Given the description of an element on the screen output the (x, y) to click on. 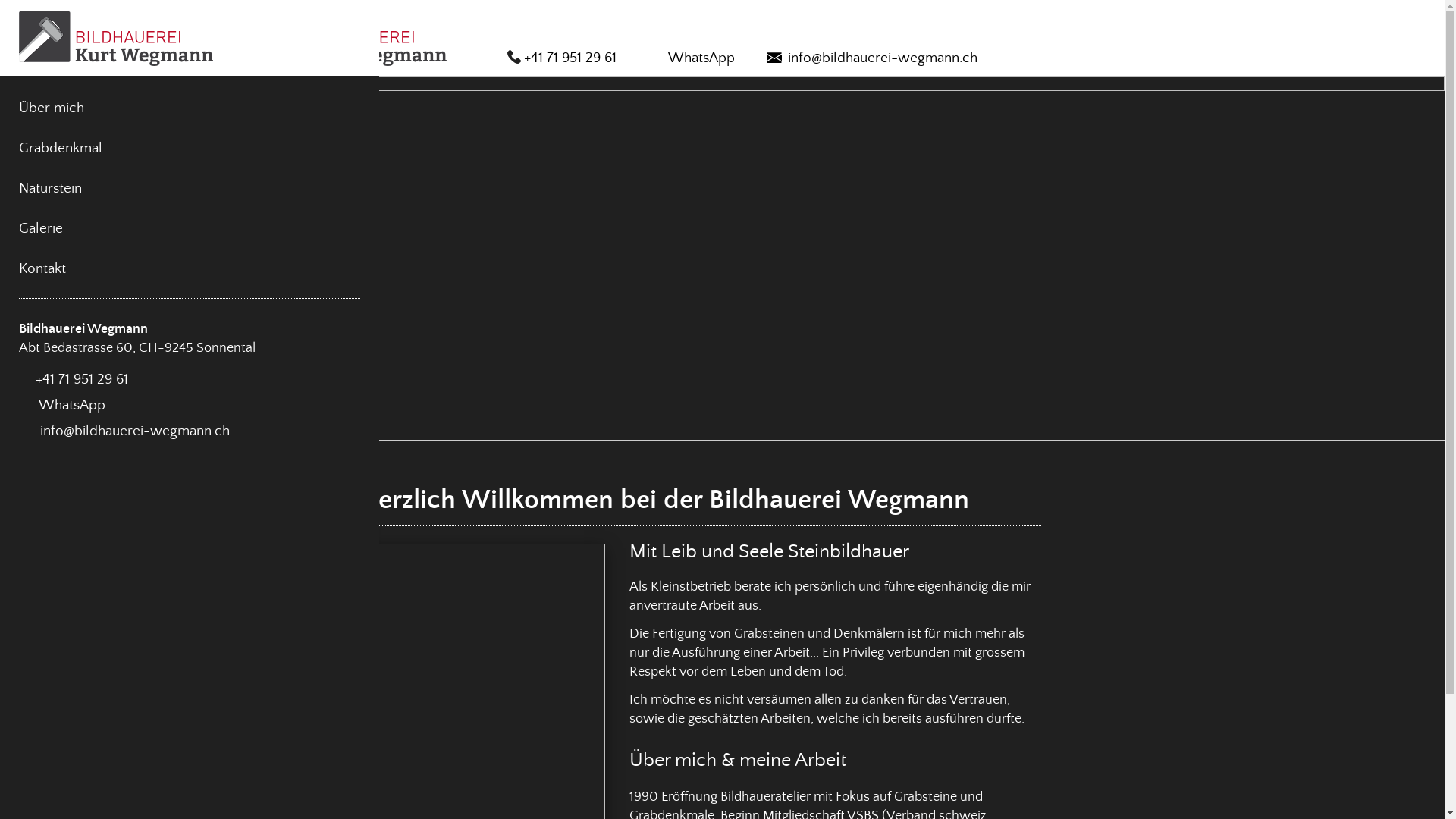
info@bildhauerei-wegmann.ch Element type: text (870, 58)
+41 71 951 29 61 Element type: text (73, 379)
WhatsApp Element type: text (61, 405)
Grabdenkmal Element type: text (189, 147)
+41 71 951 29 61 Element type: text (560, 58)
Kontakt Element type: text (154, 268)
Galerie Element type: text (154, 227)
Bildhauerei Wegmann - Startseite Element type: hover (348, 38)
info@bildhauerei-wegmann.ch Element type: text (123, 431)
WhatsApp Element type: text (690, 58)
Naturstein Element type: text (189, 187)
